Given the description of an element on the screen output the (x, y) to click on. 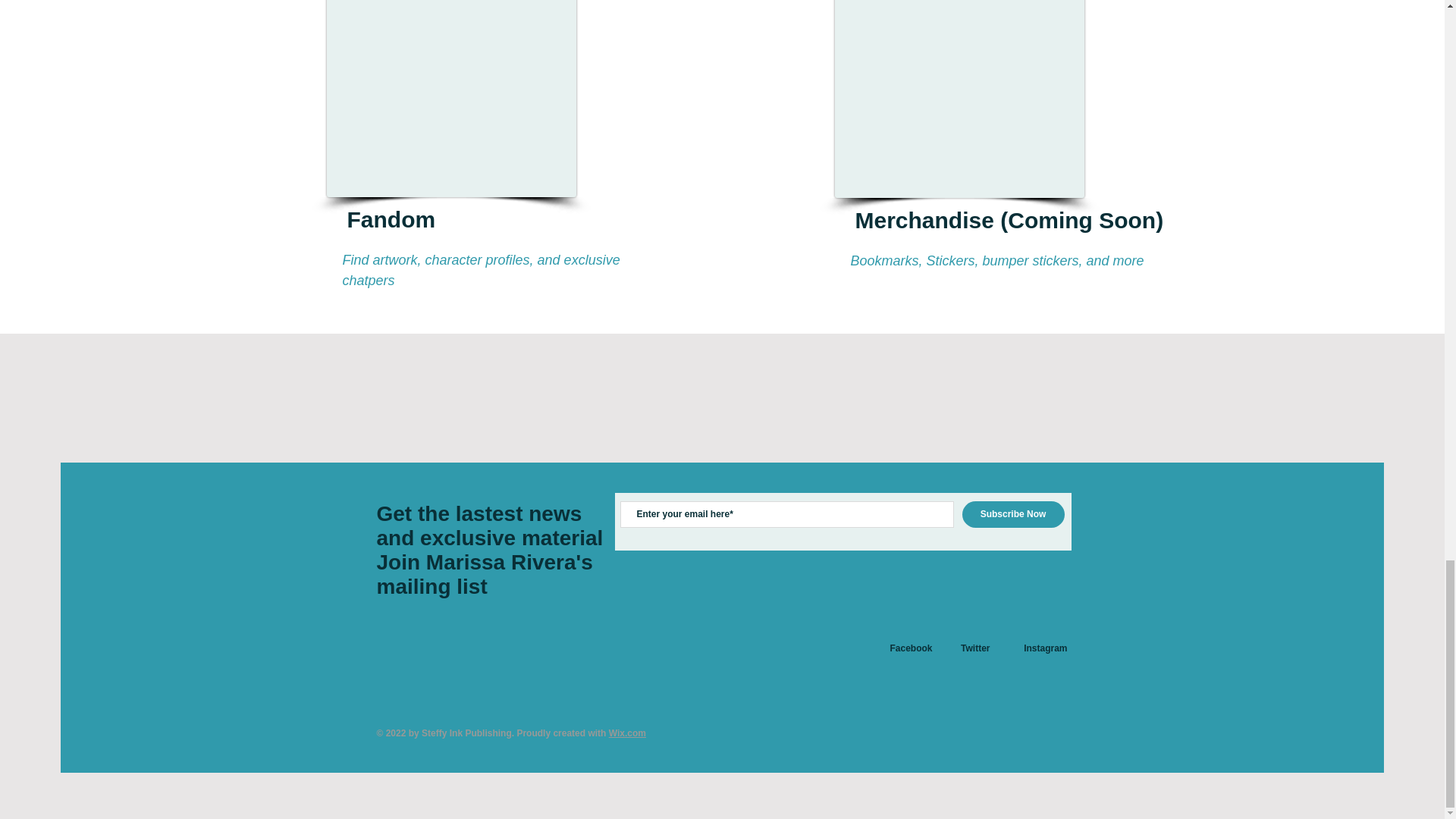
Wix.com (627, 733)
Twitter (975, 647)
Subscribe Now (1012, 514)
Instagram (1045, 647)
Facebook (910, 647)
